Given the description of an element on the screen output the (x, y) to click on. 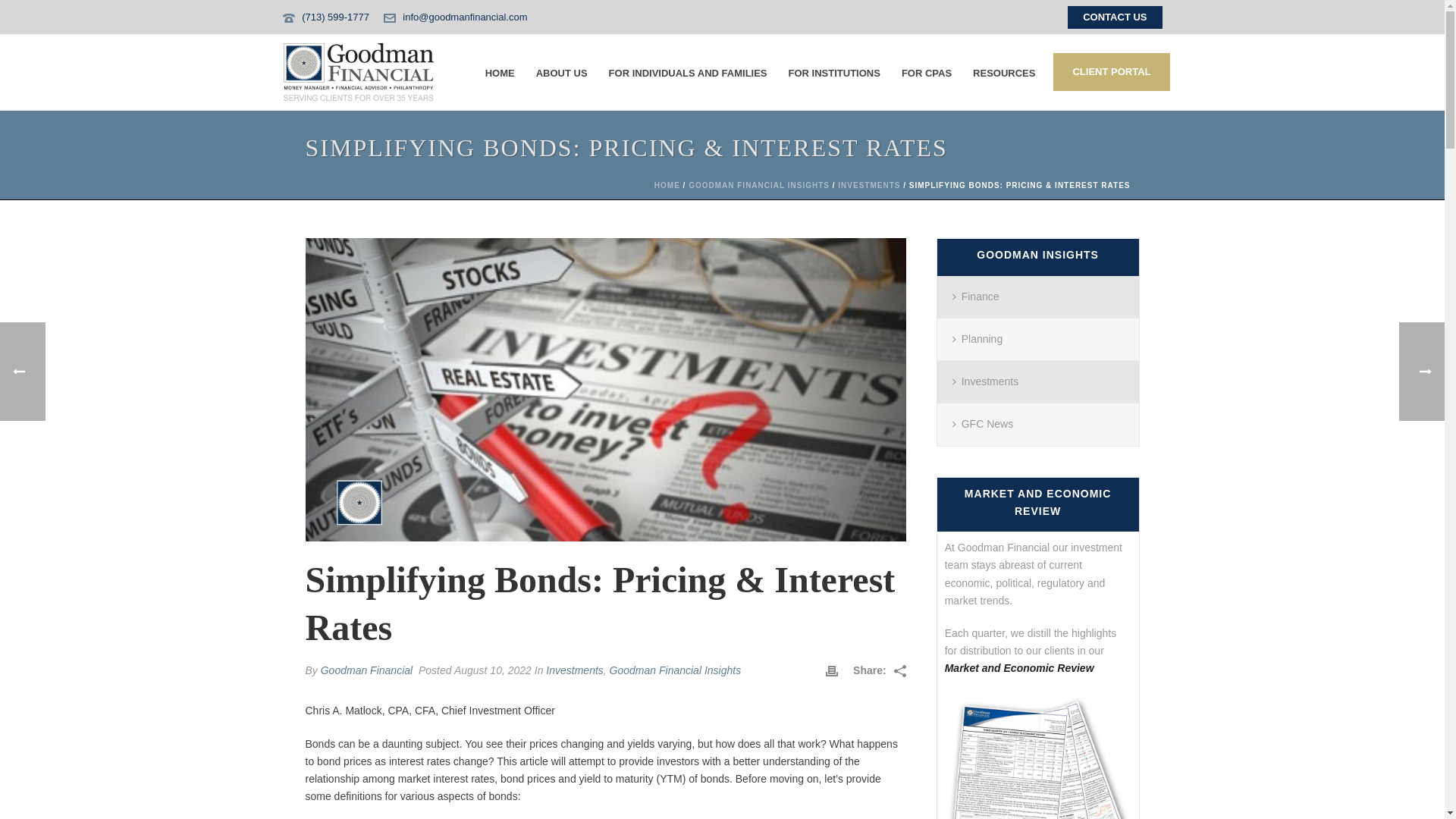
FOR INSTITUTIONS (834, 71)
CLIENT PORTAL (1110, 71)
FOR INDIVIDUALS AND FAMILIES (687, 71)
ABOUT US (561, 71)
FOR INDIVIDUALS AND FAMILIES (687, 71)
RESOURCES (1003, 71)
FOR INSTITUTIONS (834, 71)
ABOUT US (561, 71)
FOR CPAS (926, 71)
FOR CPAS (926, 71)
CONTACT US (1114, 16)
Posts by Goodman Financial (366, 670)
RESOURCES (1003, 71)
CLIENT PORTAL (1110, 71)
